Given the description of an element on the screen output the (x, y) to click on. 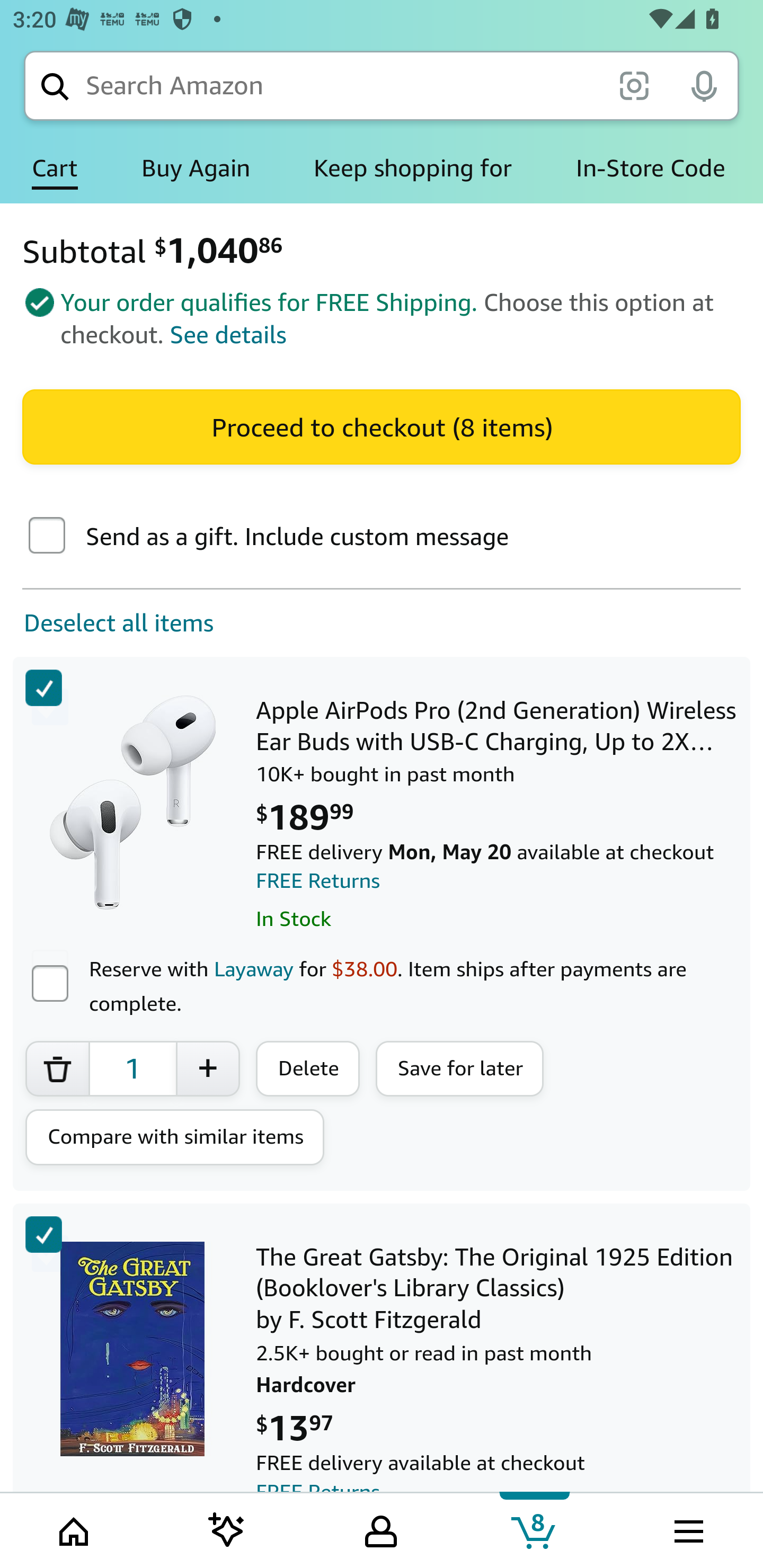
scan it (633, 85)
Cart (54, 168)
Buy Again (195, 168)
Keep shopping for (412, 168)
In-Store Code (650, 168)
See details (227, 334)
Proceed to checkout (8 items) (381, 426)
Send as a gift. Include custom message (46, 536)
Deselect all items (107, 623)
FREE Returns (318, 880)
Layaway (252, 967)
Delete (308, 1068)
Save for later (459, 1068)
1 (132, 1068)
Compare with similar items (174, 1137)
Home Tab 1 of 5 (75, 1529)
Inspire feed Tab 2 of 5 (227, 1529)
Your Amazon.com Tab 3 of 5 (380, 1529)
Cart 8 items Tab 4 of 5 8 (534, 1529)
Browse menu Tab 5 of 5 (687, 1529)
